Given the description of an element on the screen output the (x, y) to click on. 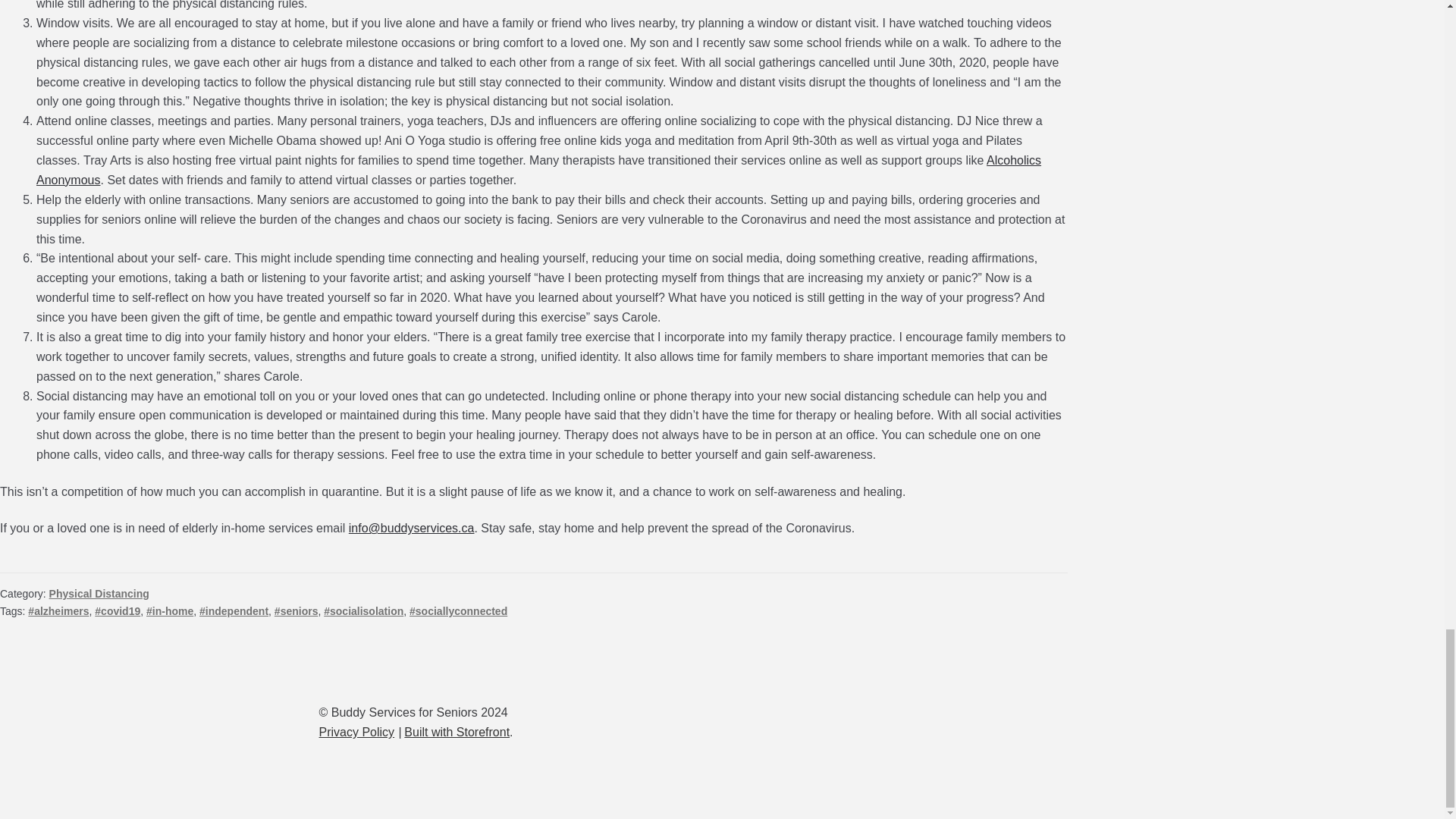
Alcoholics Anonymous (538, 169)
Physical Distancing (99, 593)
